Given the description of an element on the screen output the (x, y) to click on. 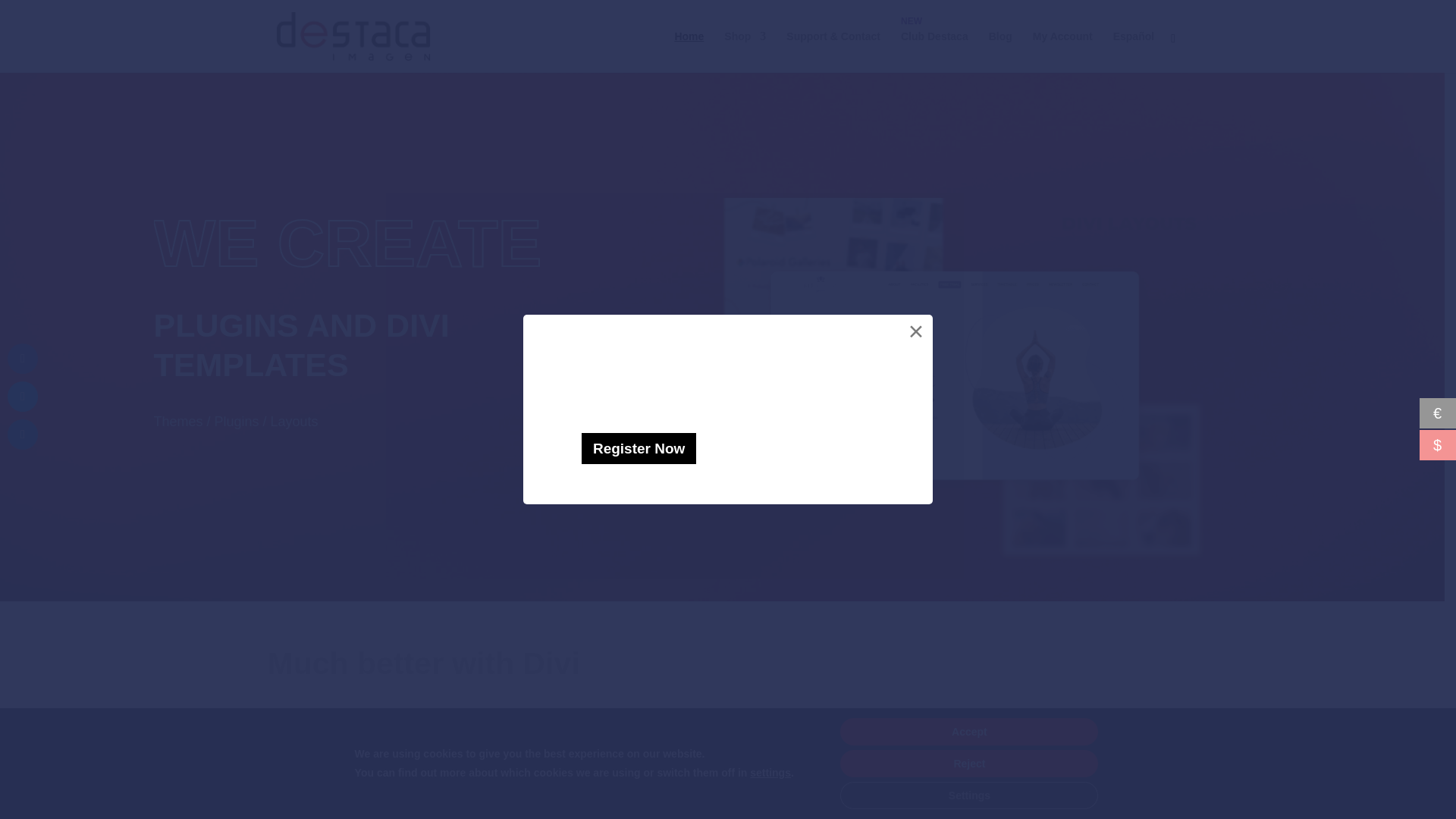
Register Now (637, 448)
Shop (744, 51)
My Account (1062, 51)
Club Destaca (934, 51)
